Given the description of an element on the screen output the (x, y) to click on. 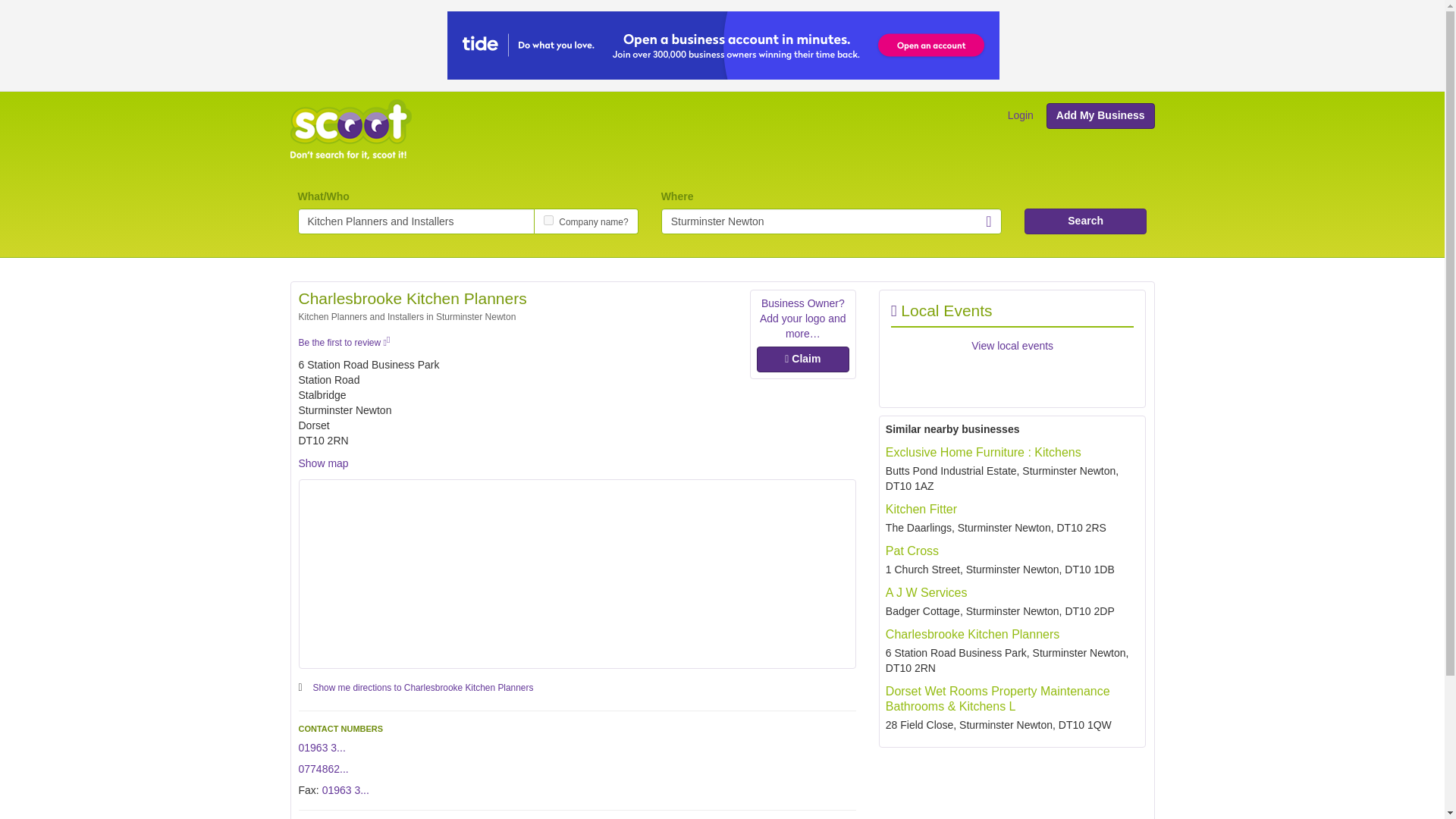
Tide Accounts (722, 44)
01963 3... (345, 789)
Sturminster Newton (831, 221)
View local events (1011, 345)
on (548, 220)
Pat Cross (912, 550)
Kitchen Planners and Installers (415, 221)
A J W Services (926, 592)
Exclusive Home Furniture : Kitchens (983, 451)
Kitchen Fitter (920, 508)
Show map (323, 463)
0774862... (323, 768)
Review Charlesbrooke Kitchen Planners (344, 342)
Search (1086, 221)
Show me directions to Charlesbrooke Kitchen Planners (423, 686)
